Given the description of an element on the screen output the (x, y) to click on. 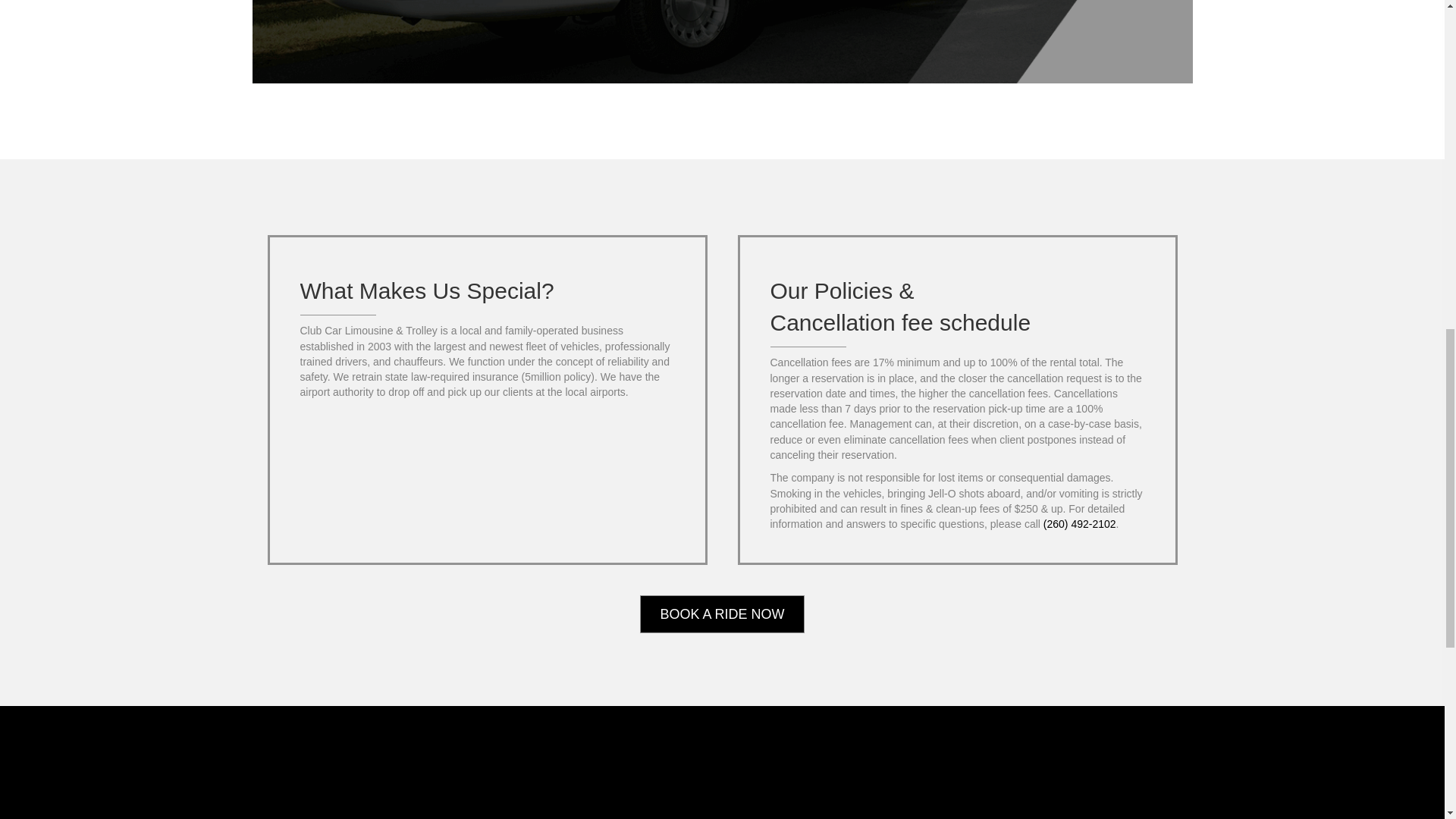
BOOK A RIDE NOW (721, 614)
